Given the description of an element on the screen output the (x, y) to click on. 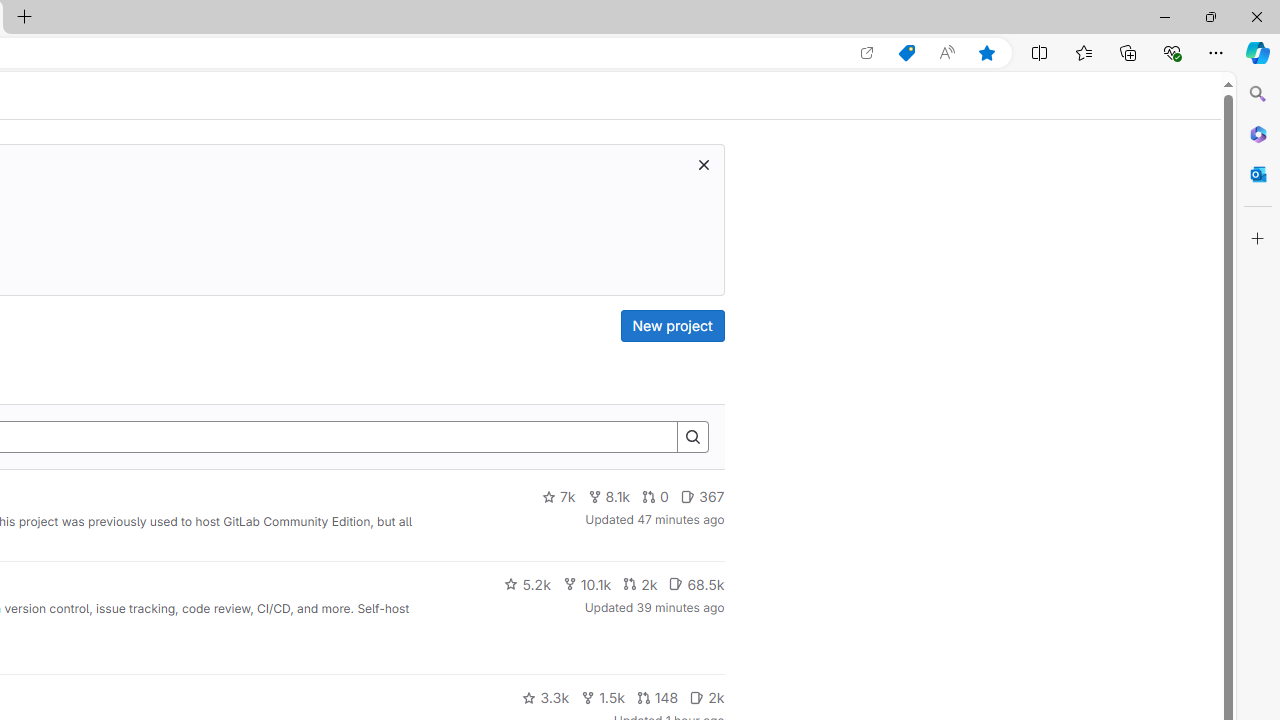
5.2k (527, 583)
New project (671, 326)
1.5k (602, 697)
Open in app (867, 53)
Dismiss trial promotion (703, 164)
10.1k (586, 583)
2k (706, 697)
68.5k (696, 583)
8.1k (609, 497)
